Given the description of an element on the screen output the (x, y) to click on. 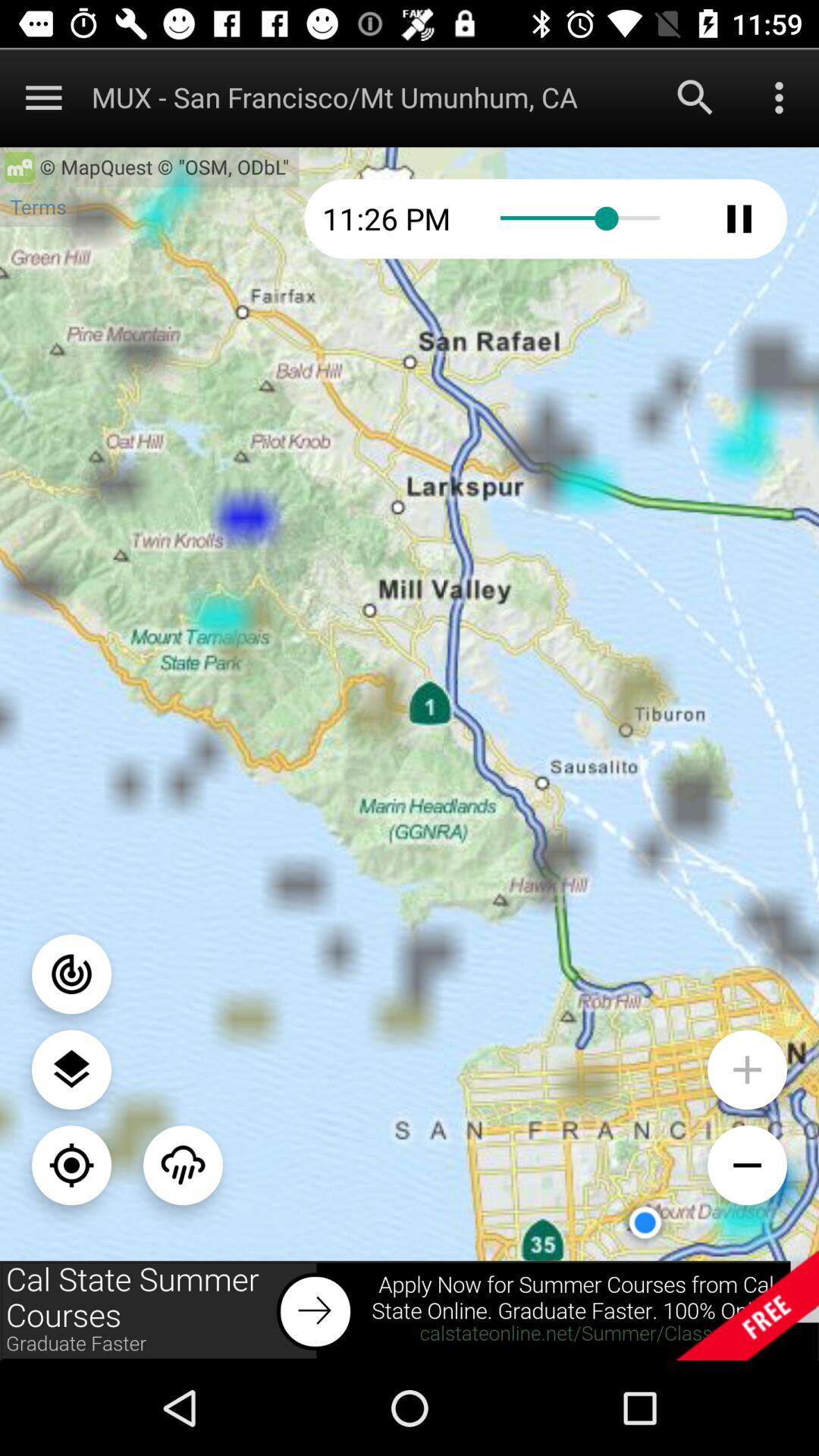
zoom out (747, 1165)
